Given the description of an element on the screen output the (x, y) to click on. 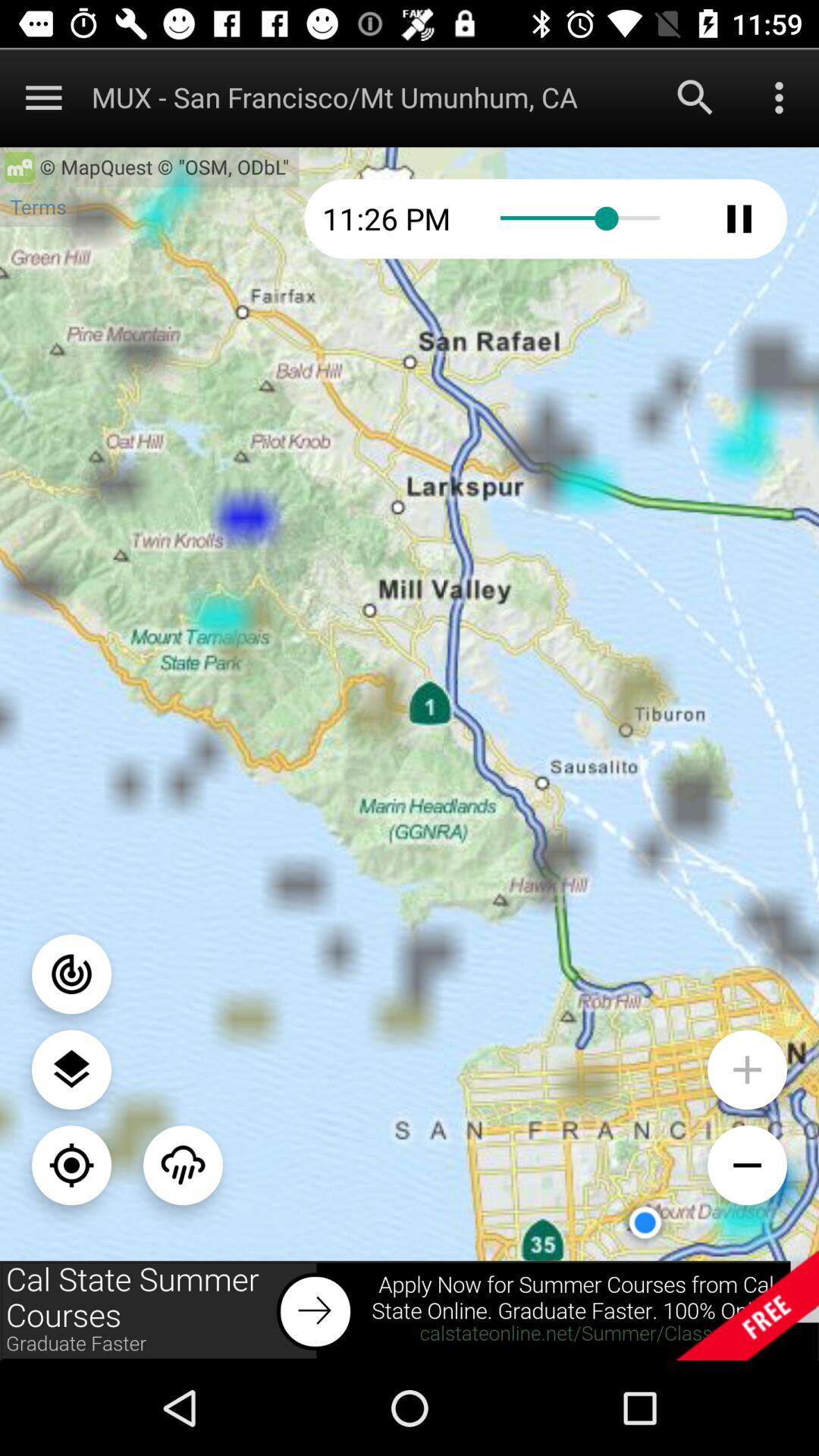
zoom out (747, 1165)
